Given the description of an element on the screen output the (x, y) to click on. 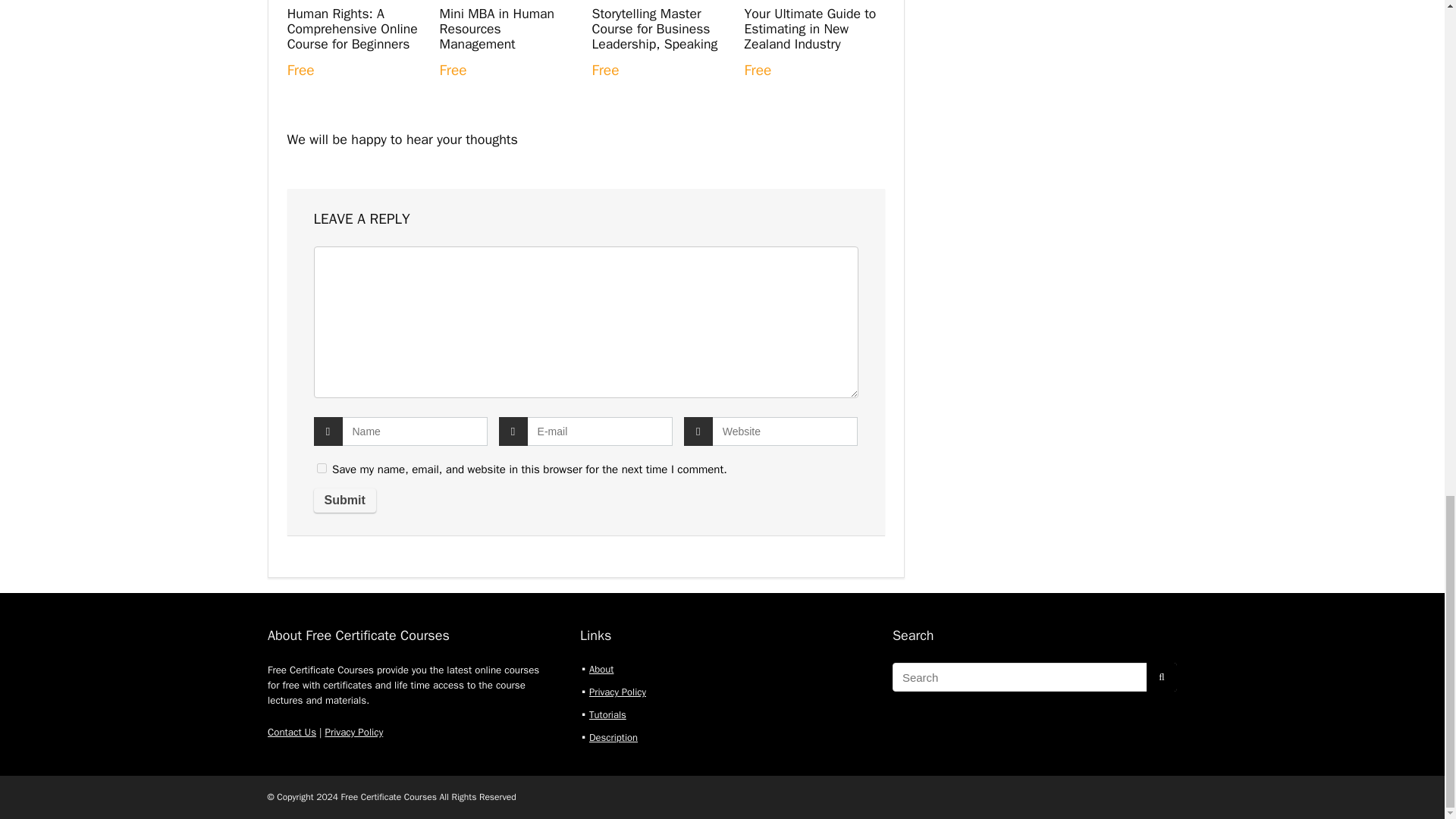
Human Rights: A Comprehensive Online Course for Beginners (351, 28)
Submit (344, 500)
Contact Us (291, 731)
Submit (344, 500)
About (600, 668)
Mini MBA in Human Resources Management (496, 28)
Privacy Policy (353, 731)
Storytelling Master Course for Business Leadership, Speaking (654, 28)
yes (321, 468)
Your Ultimate Guide to Estimating in New Zealand Industry (810, 28)
